Given the description of an element on the screen output the (x, y) to click on. 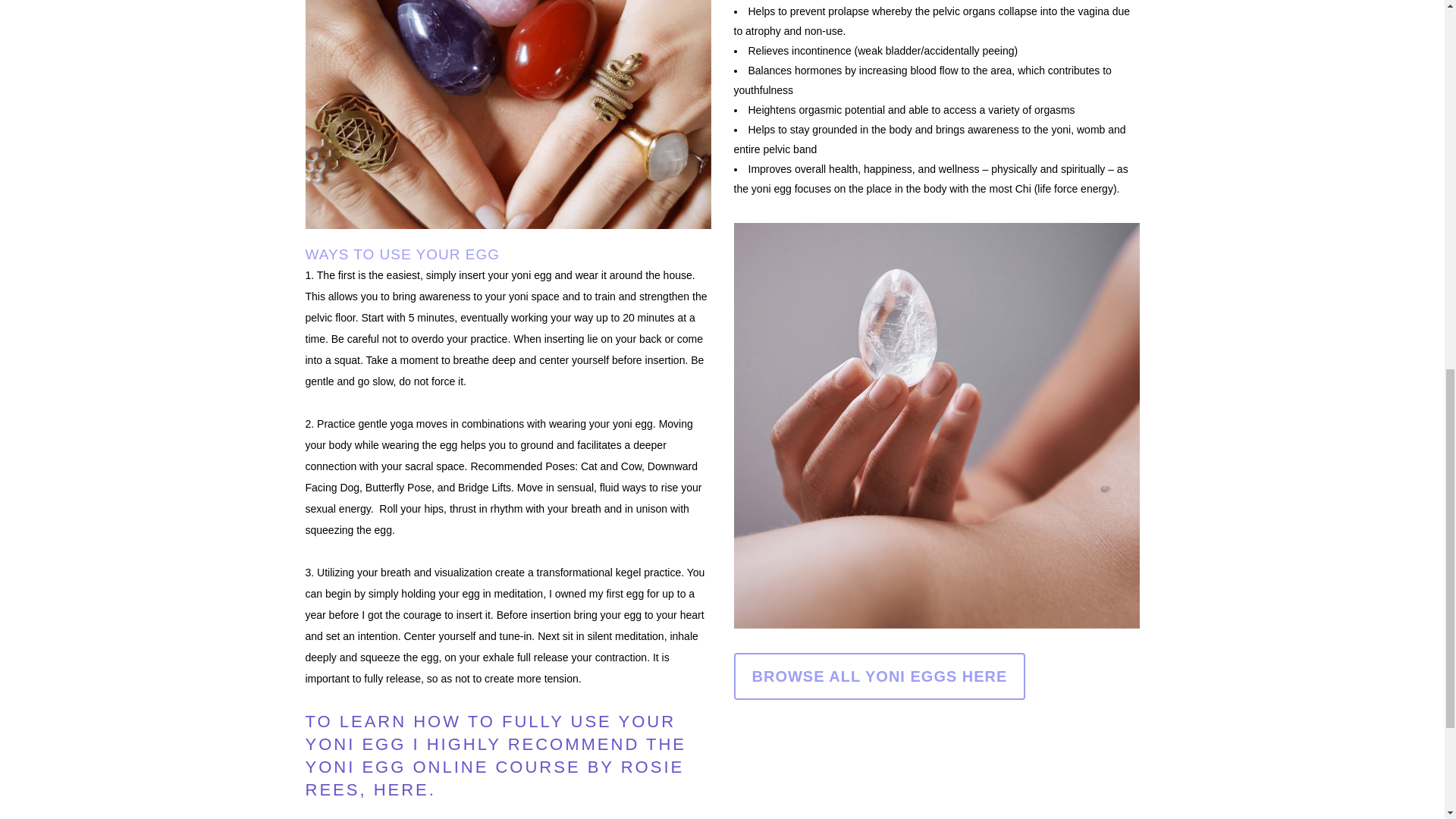
BROWSE ALL YONI EGGS HERE (879, 676)
HERE (397, 789)
